Given the description of an element on the screen output the (x, y) to click on. 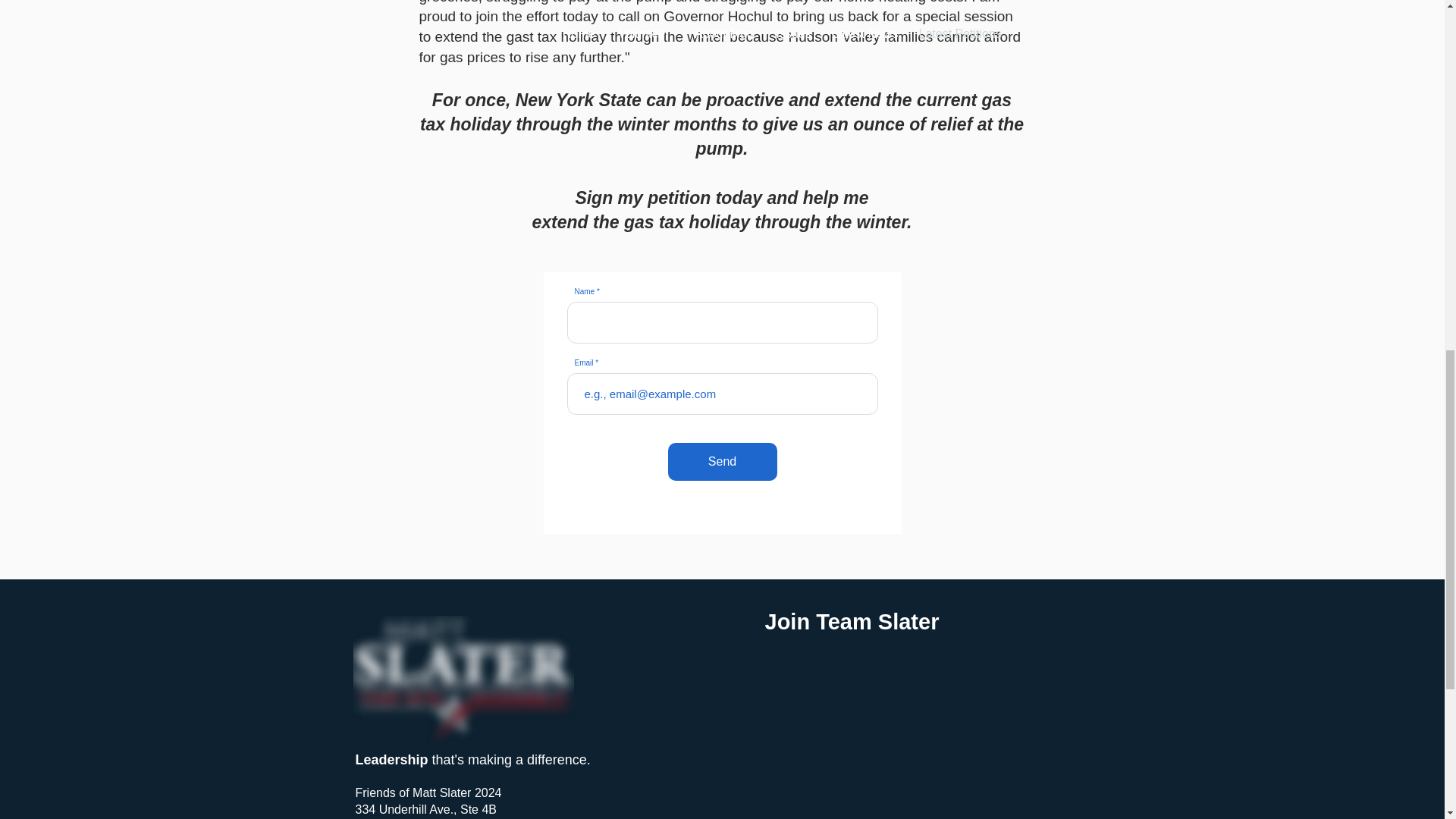
Send (721, 461)
